Given the description of an element on the screen output the (x, y) to click on. 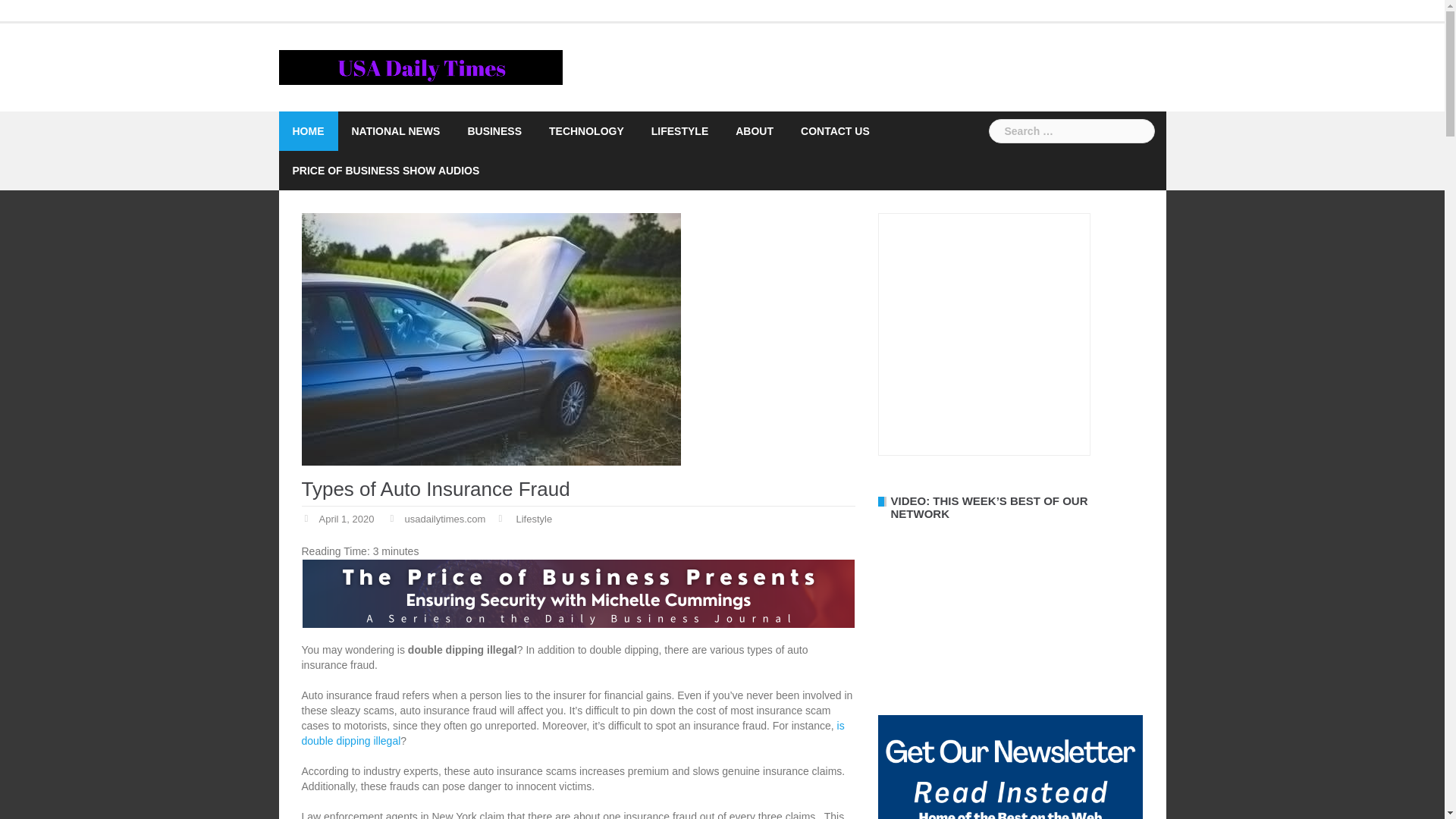
is double dipping illegal (572, 732)
BUSINESS (494, 130)
TECHNOLOGY (586, 130)
USA Daily Times (421, 66)
April 1, 2020 (346, 519)
Lifestyle (533, 519)
Search (39, 18)
usadailytimes.com (445, 519)
PRICE OF BUSINESS SHOW AUDIOS (386, 170)
LIFESTYLE (678, 130)
